Given the description of an element on the screen output the (x, y) to click on. 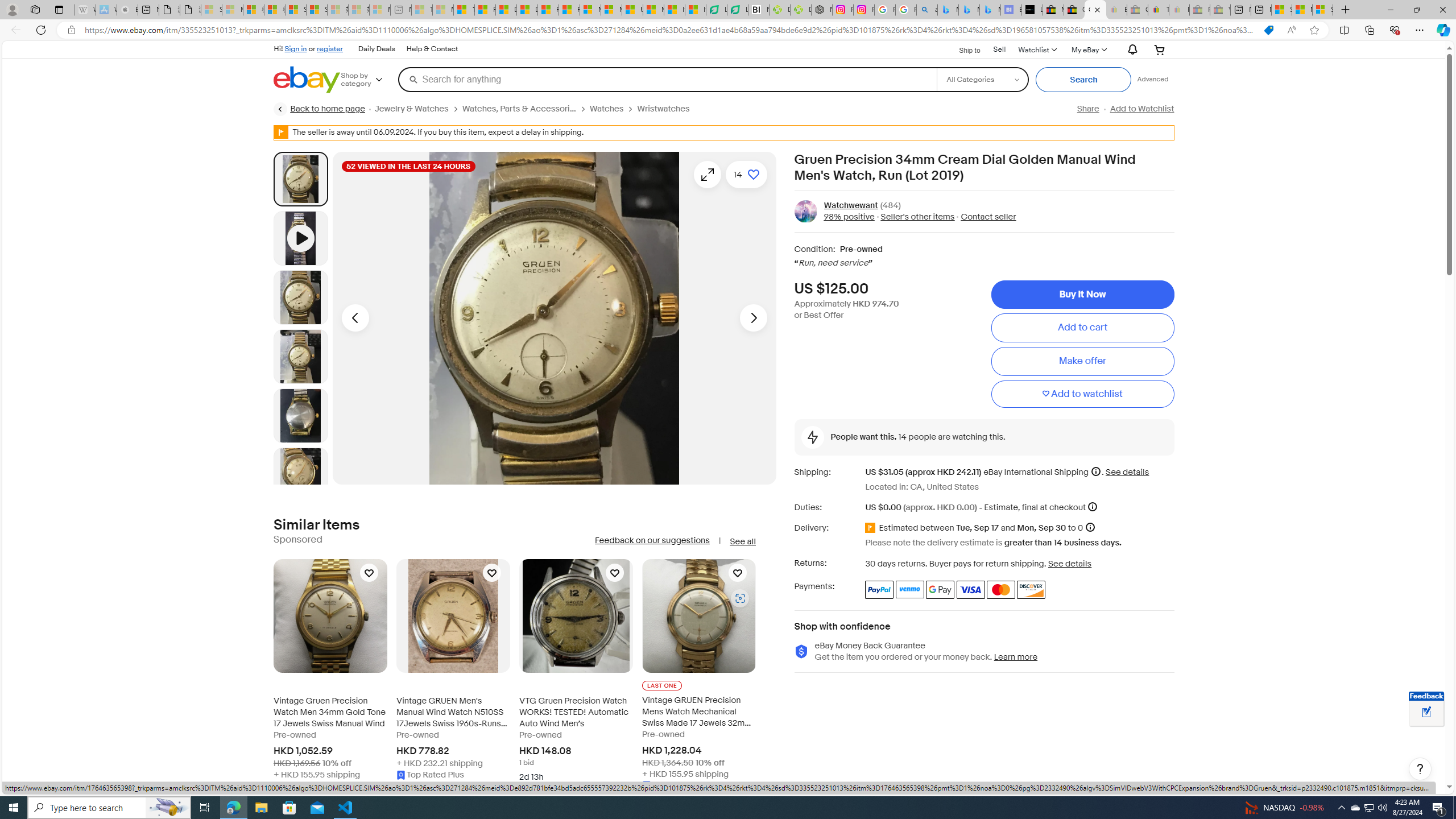
Sign in to your Microsoft account (1322, 9)
Marine life - MSN - Sleeping (443, 9)
US Heat Deaths Soared To Record High Last Year (632, 9)
Nvidia va a poner a prueba la paciencia de los inversores (759, 9)
Picture 3 of 13 (300, 356)
Add to watchlist (1082, 394)
Shop by category (368, 79)
My eBayExpand My eBay (1088, 49)
Sell (999, 49)
